Given the description of an element on the screen output the (x, y) to click on. 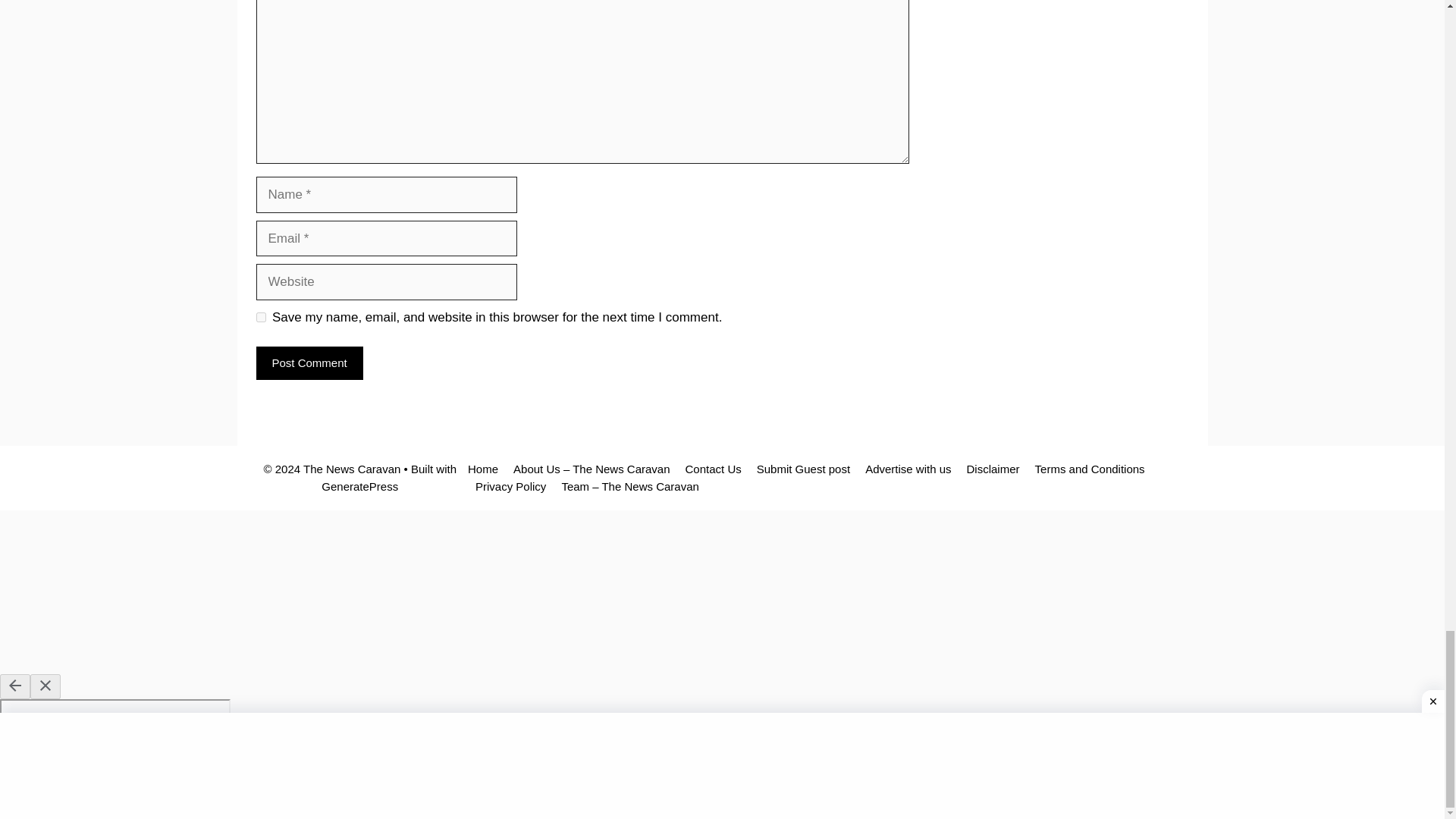
Post Comment (309, 363)
Home (482, 468)
Terms and Conditions (1089, 468)
Disclaimer (993, 468)
Privacy Policy (511, 486)
Submit Guest post (803, 468)
Post Comment (309, 363)
Advertise with us (907, 468)
yes (261, 317)
GeneratePress (359, 486)
